Given the description of an element on the screen output the (x, y) to click on. 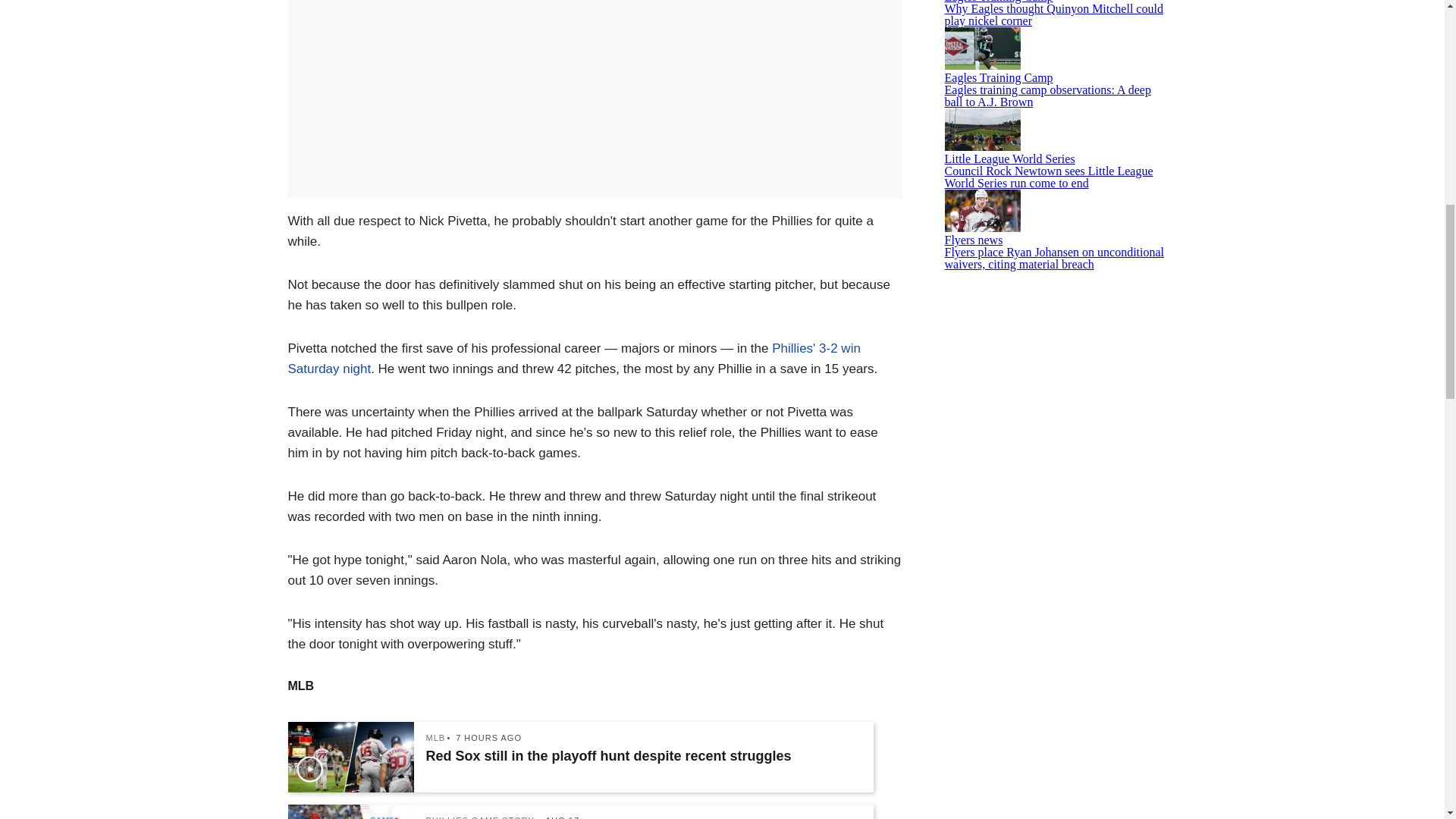
Phillies' 3-2 win Saturday night (574, 358)
Eagles Training Camp (998, 1)
Red Sox still in the playoff hunt despite recent struggles (642, 755)
PHILLIES GAME STORY (480, 816)
MLB (435, 737)
